Given the description of an element on the screen output the (x, y) to click on. 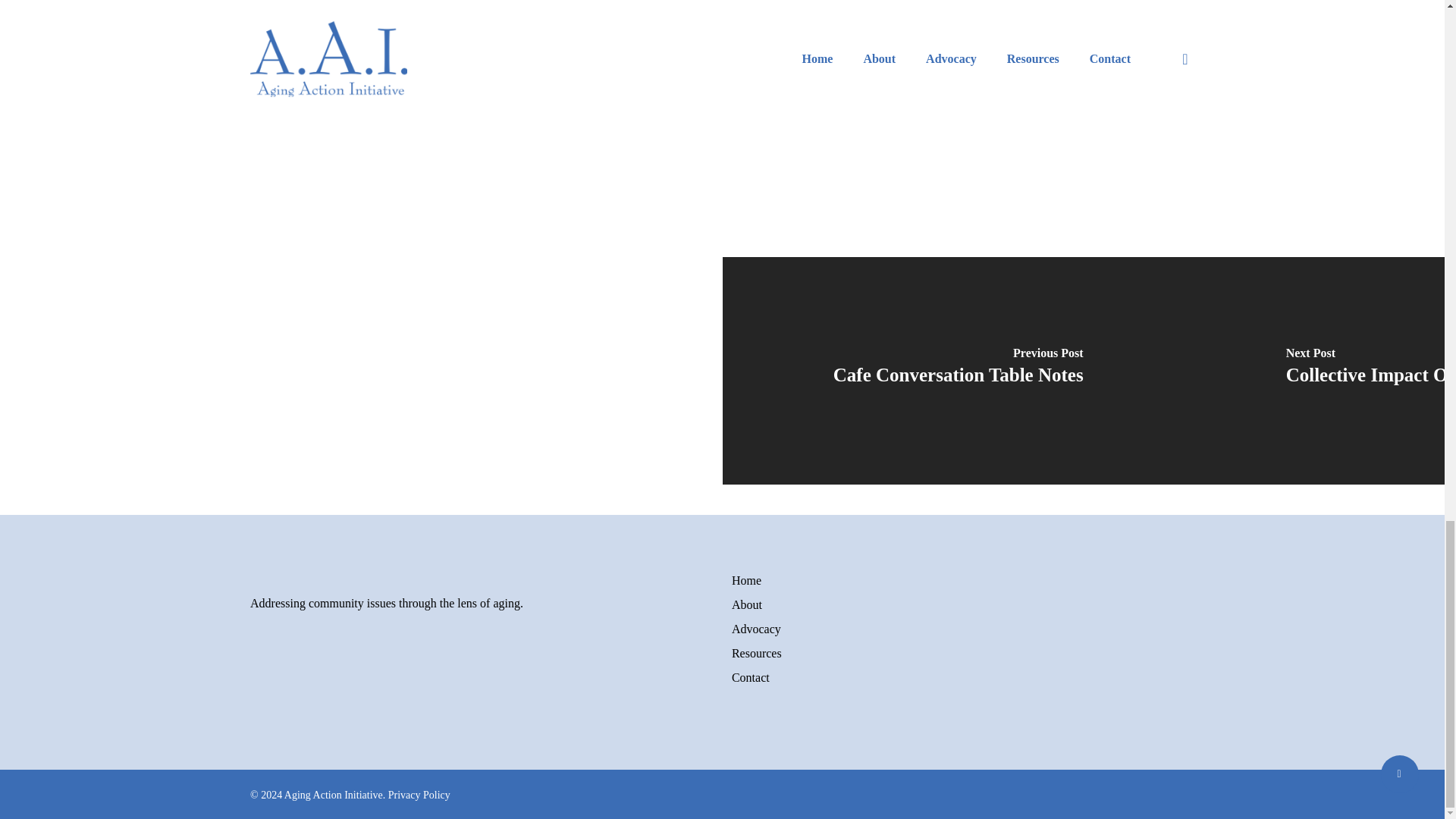
Home (962, 580)
Privacy Policy (418, 794)
Contact (962, 678)
Resources (962, 653)
About (962, 605)
Advocacy (962, 628)
